Given the description of an element on the screen output the (x, y) to click on. 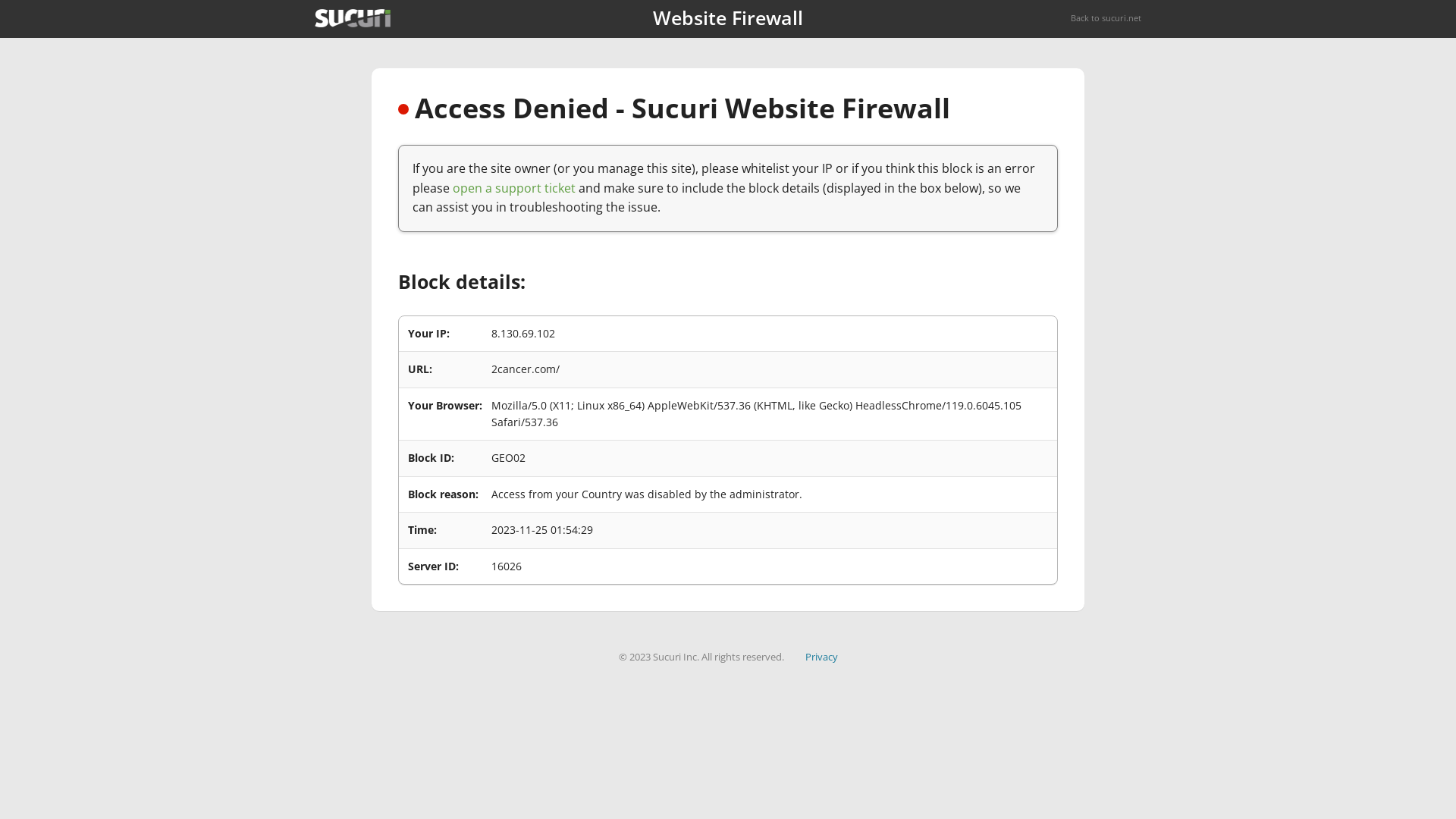
open a support ticket Element type: text (513, 187)
Privacy Element type: text (821, 656)
Back to sucuri.net Element type: text (1105, 18)
